Given the description of an element on the screen output the (x, y) to click on. 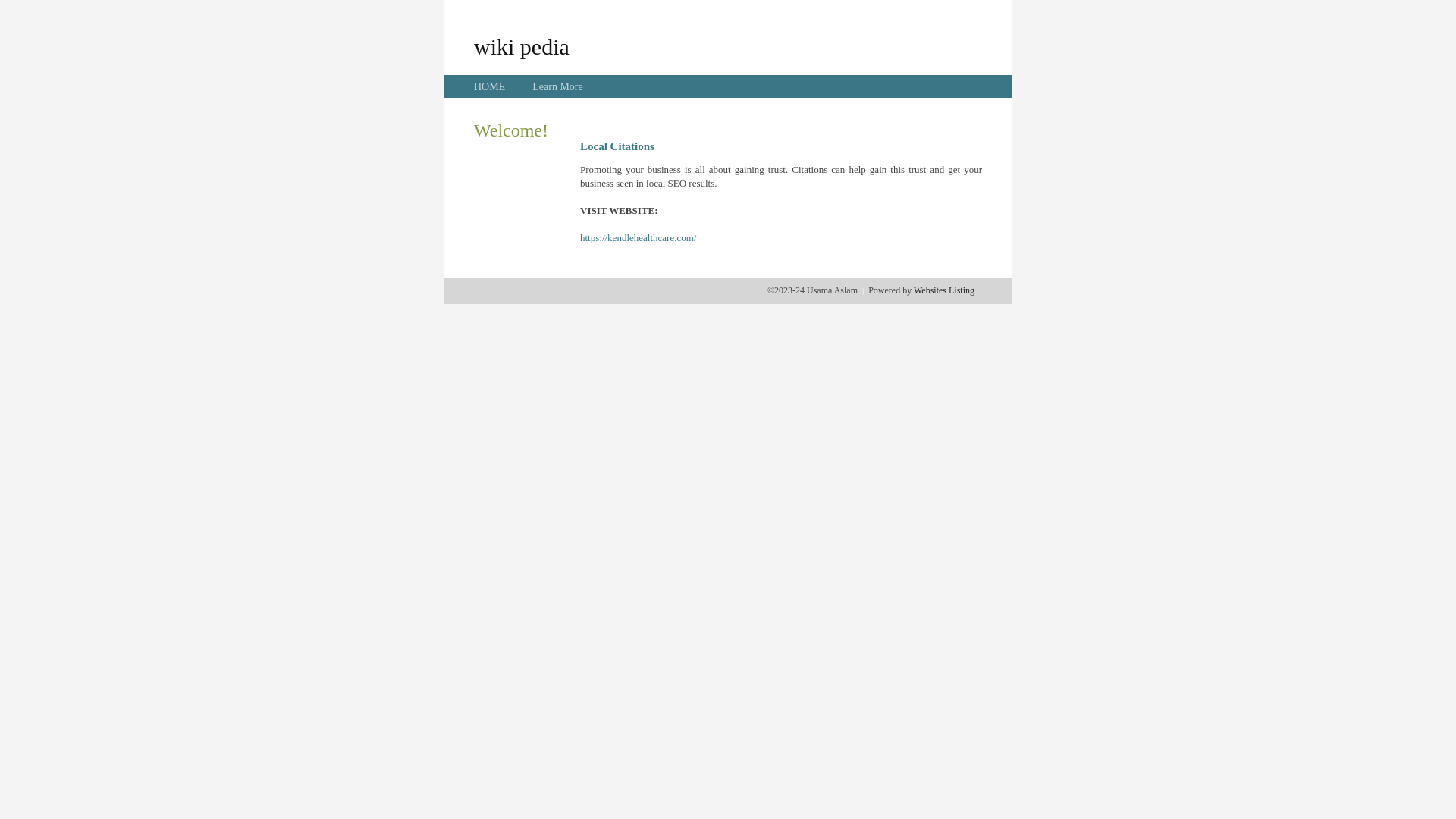
wiki pedia Element type: text (521, 46)
https://kendlehealthcare.com/ Element type: text (638, 237)
Websites Listing Element type: text (943, 290)
Learn More Element type: text (557, 86)
HOME Element type: text (489, 86)
